Given the description of an element on the screen output the (x, y) to click on. 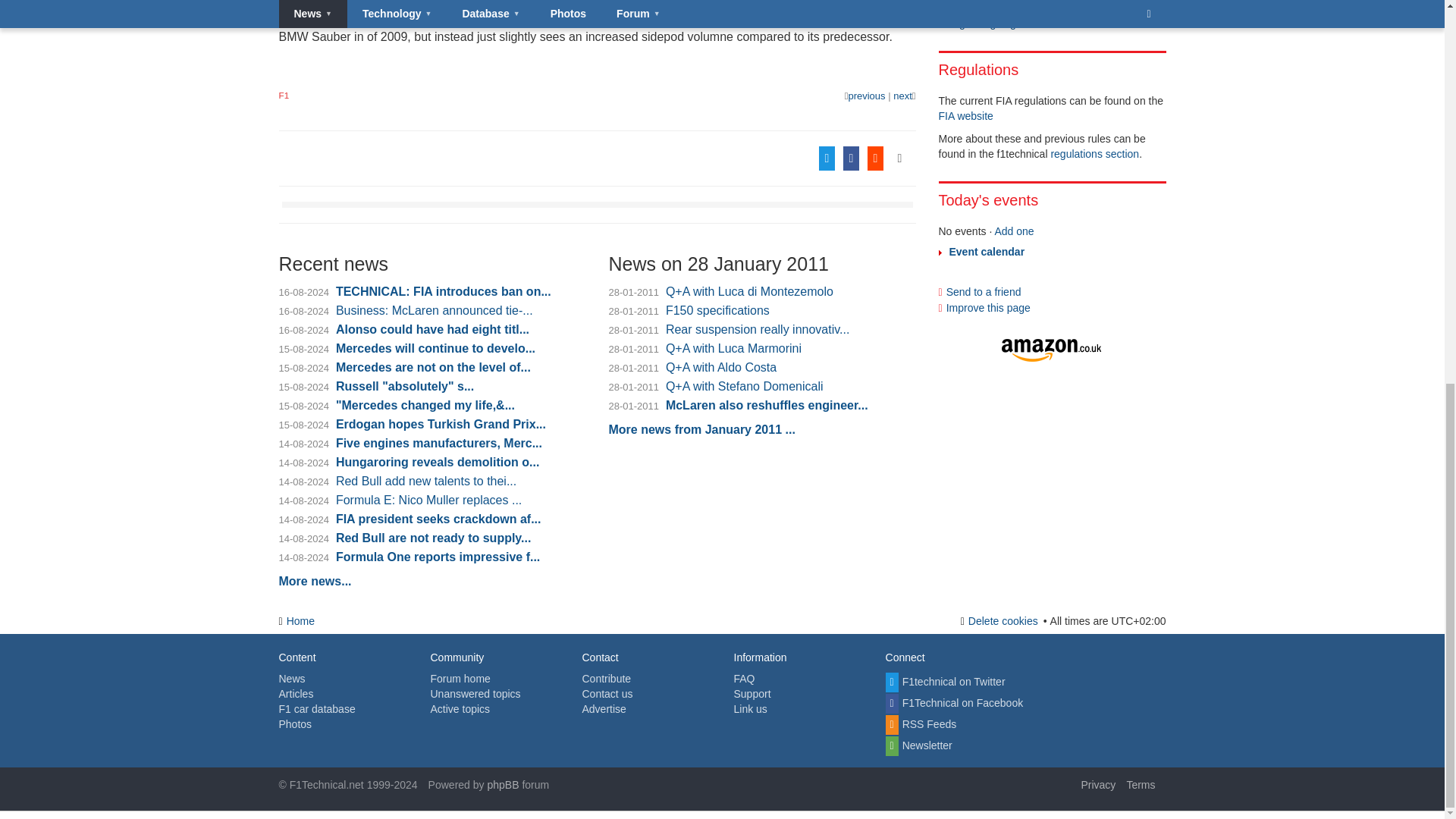
McLaren also reshuffles engineering department (864, 95)
previous (864, 95)
Share on Reddit (879, 158)
Share on Twitter (830, 158)
Share on Facebook (855, 158)
next (904, 95)
Share via mail (806, 158)
Mail (806, 158)
